Given the description of an element on the screen output the (x, y) to click on. 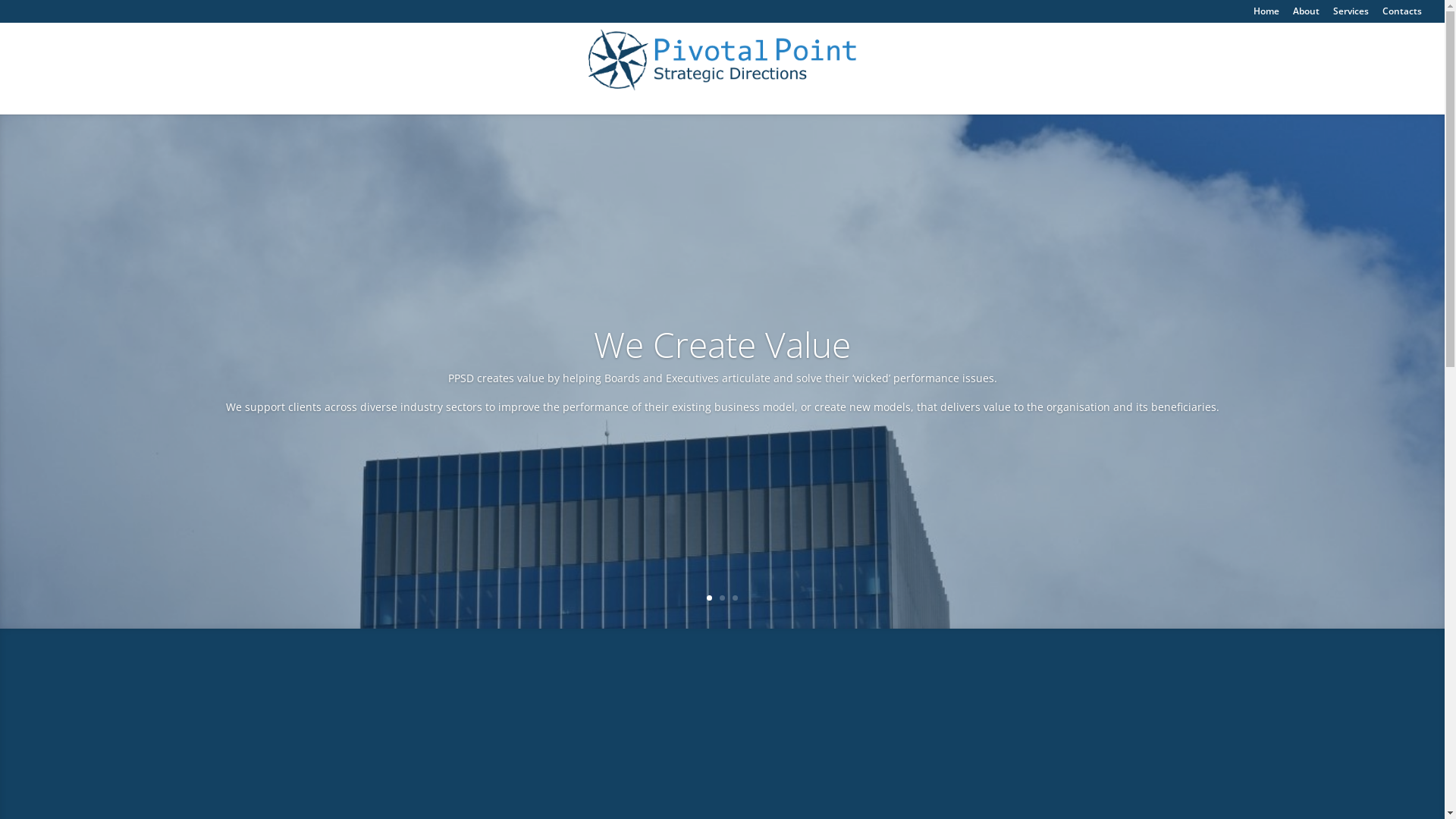
3 Element type: text (734, 597)
Home Element type: text (1266, 14)
2 Element type: text (721, 597)
1 Element type: text (709, 597)
Contacts Element type: text (1401, 14)
Services Element type: text (1350, 14)
About Element type: text (1305, 14)
